Given the description of an element on the screen output the (x, y) to click on. 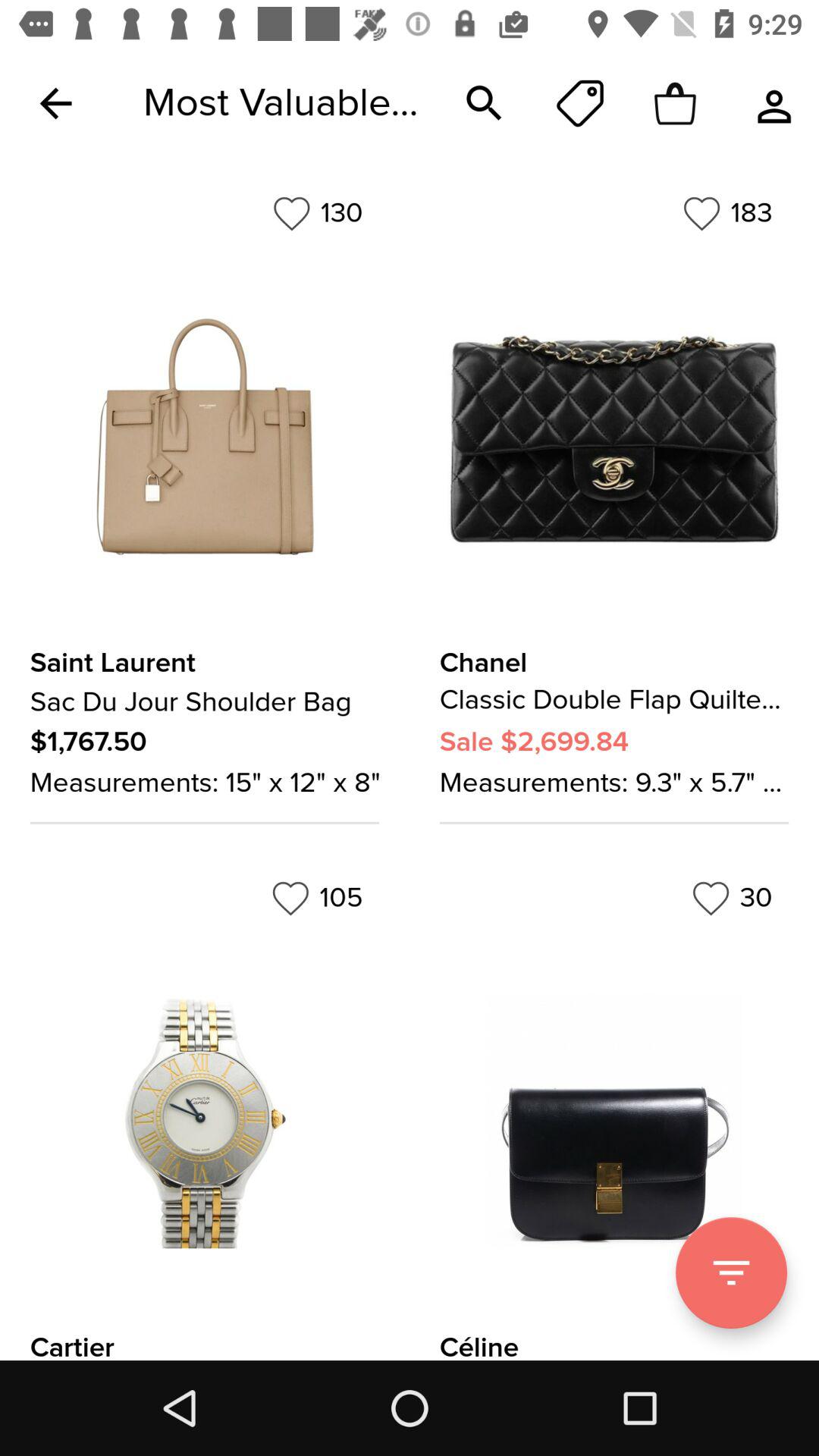
swipe until 30 item (731, 898)
